Given the description of an element on the screen output the (x, y) to click on. 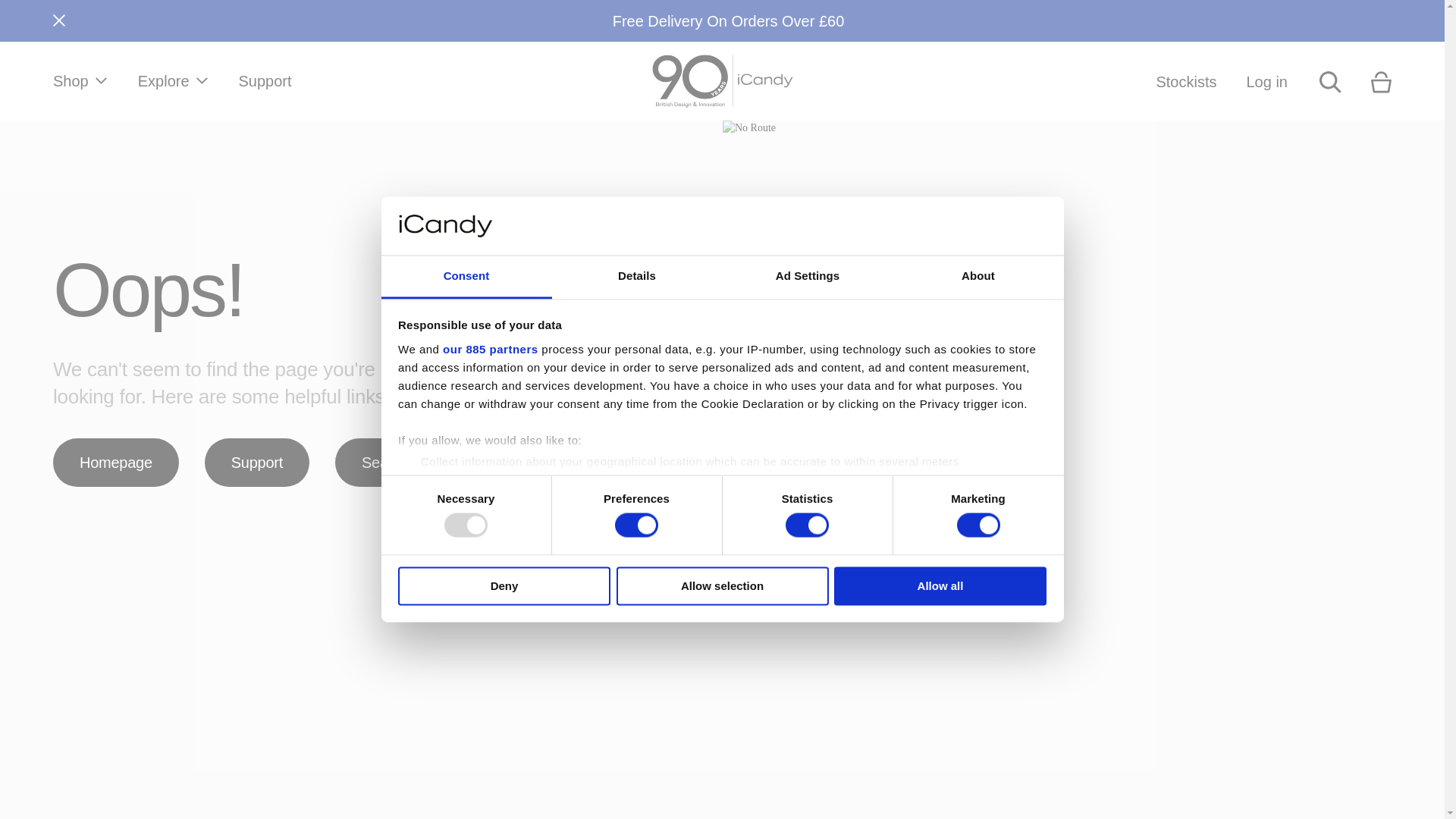
details section (927, 500)
About (978, 276)
our 885 partners (490, 349)
Consent (465, 276)
Ad Settings (807, 276)
Details (636, 276)
